Given the description of an element on the screen output the (x, y) to click on. 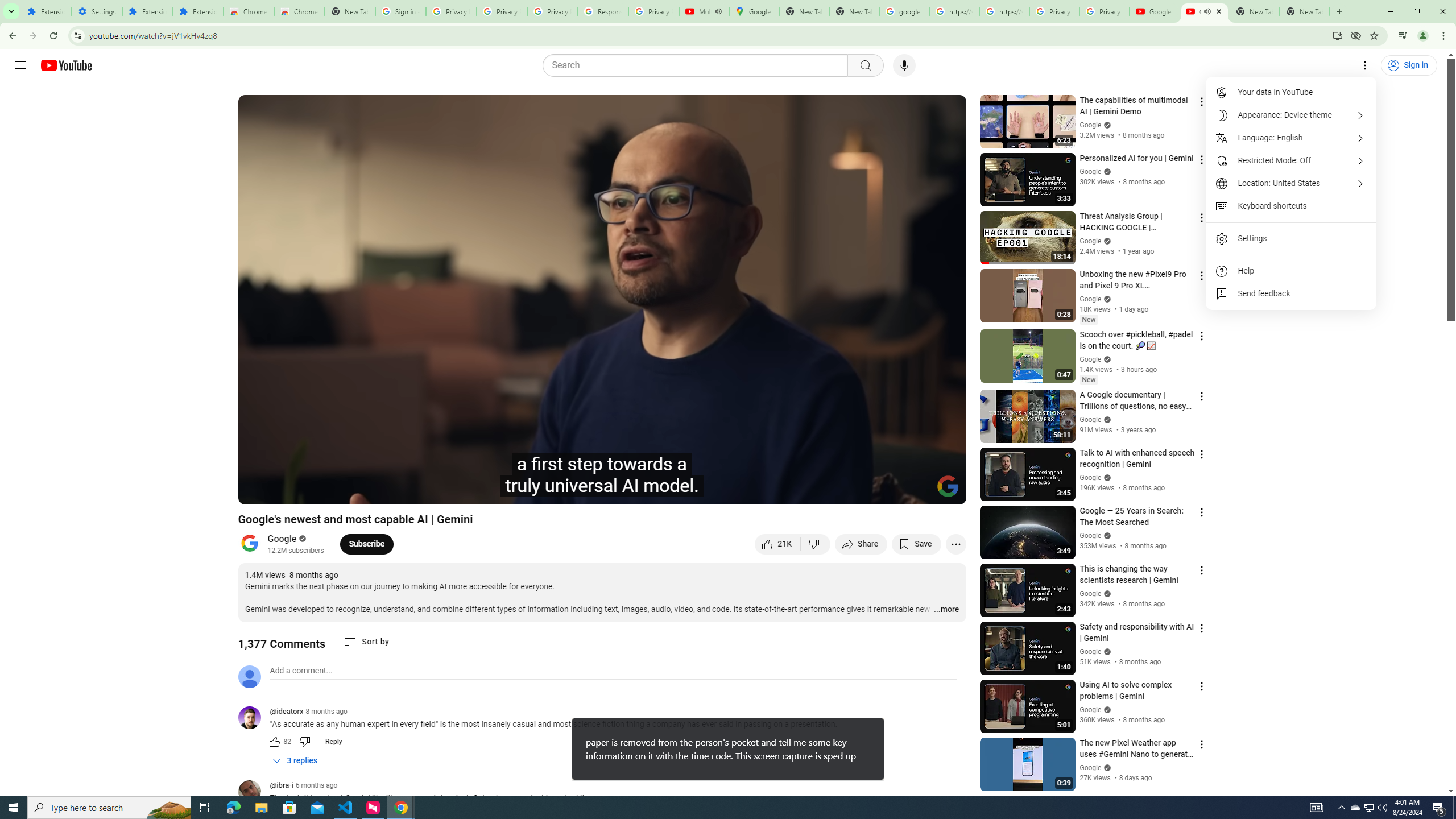
Location: United States (1291, 182)
@ibra-i (281, 785)
Send feedback (1291, 293)
Keyboard shortcuts (1291, 205)
@ideatorx (253, 717)
Google Maps (753, 11)
Seek slider (601, 476)
8 months ago (326, 710)
